Given the description of an element on the screen output the (x, y) to click on. 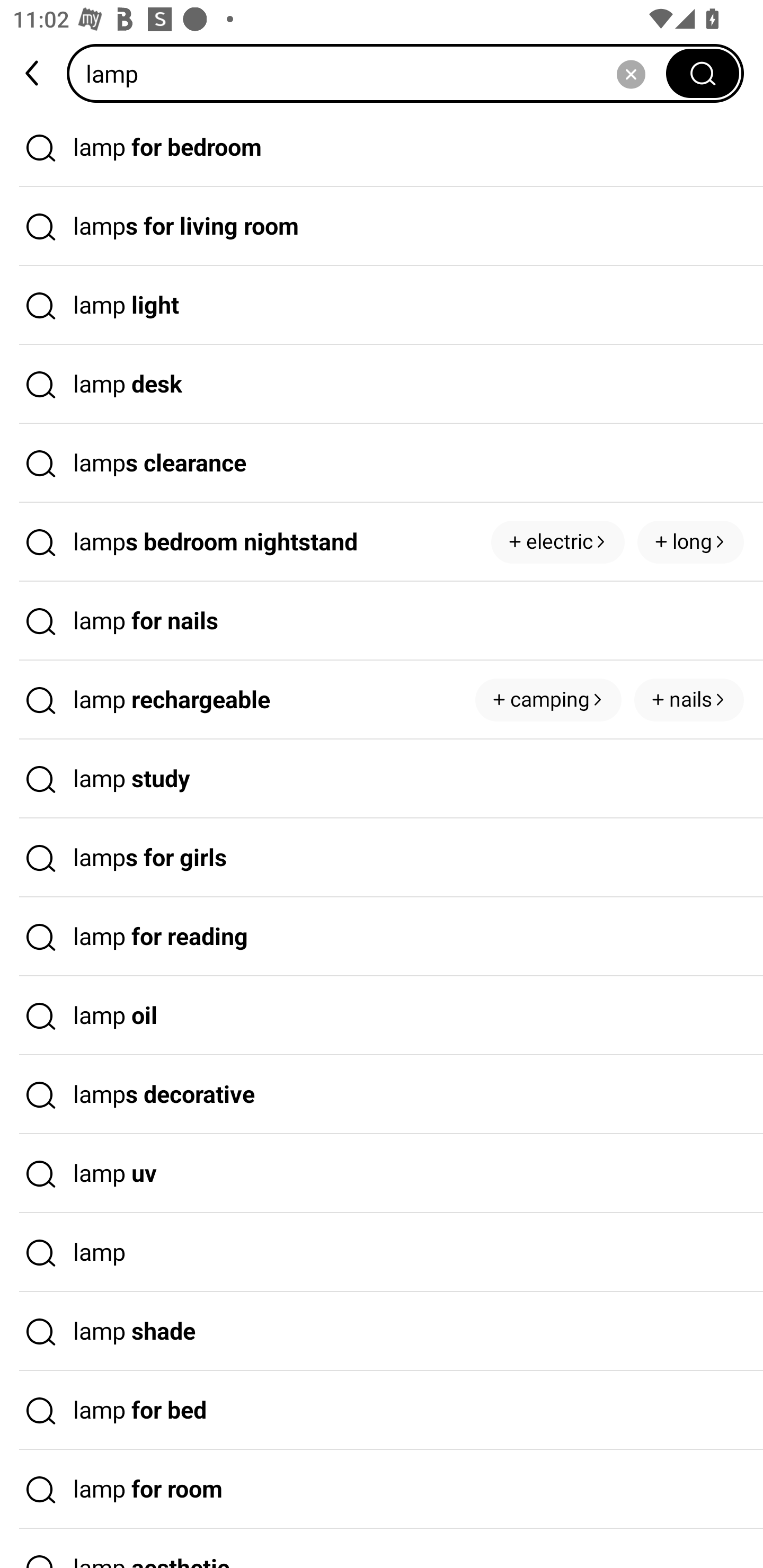
back (33, 72)
lamp (372, 73)
Delete search history (630, 73)
lamp for bedroom (381, 147)
lamps for living room (381, 226)
lamp light (381, 305)
lamp desk (381, 383)
lamps clearance (381, 463)
lamps bedroom nightstand electric long (381, 542)
electric (557, 541)
long (690, 541)
lamp for nails (381, 620)
lamp rechargeable camping nails (381, 700)
camping (548, 699)
nails (688, 699)
lamp study (381, 779)
lamps for girls (381, 857)
lamp for reading (381, 936)
lamp oil (381, 1015)
lamps decorative (381, 1094)
lamp uv (381, 1173)
lamp (381, 1252)
lamp shade (381, 1331)
lamp for bed (381, 1410)
lamp for room (381, 1489)
